Given the description of an element on the screen output the (x, y) to click on. 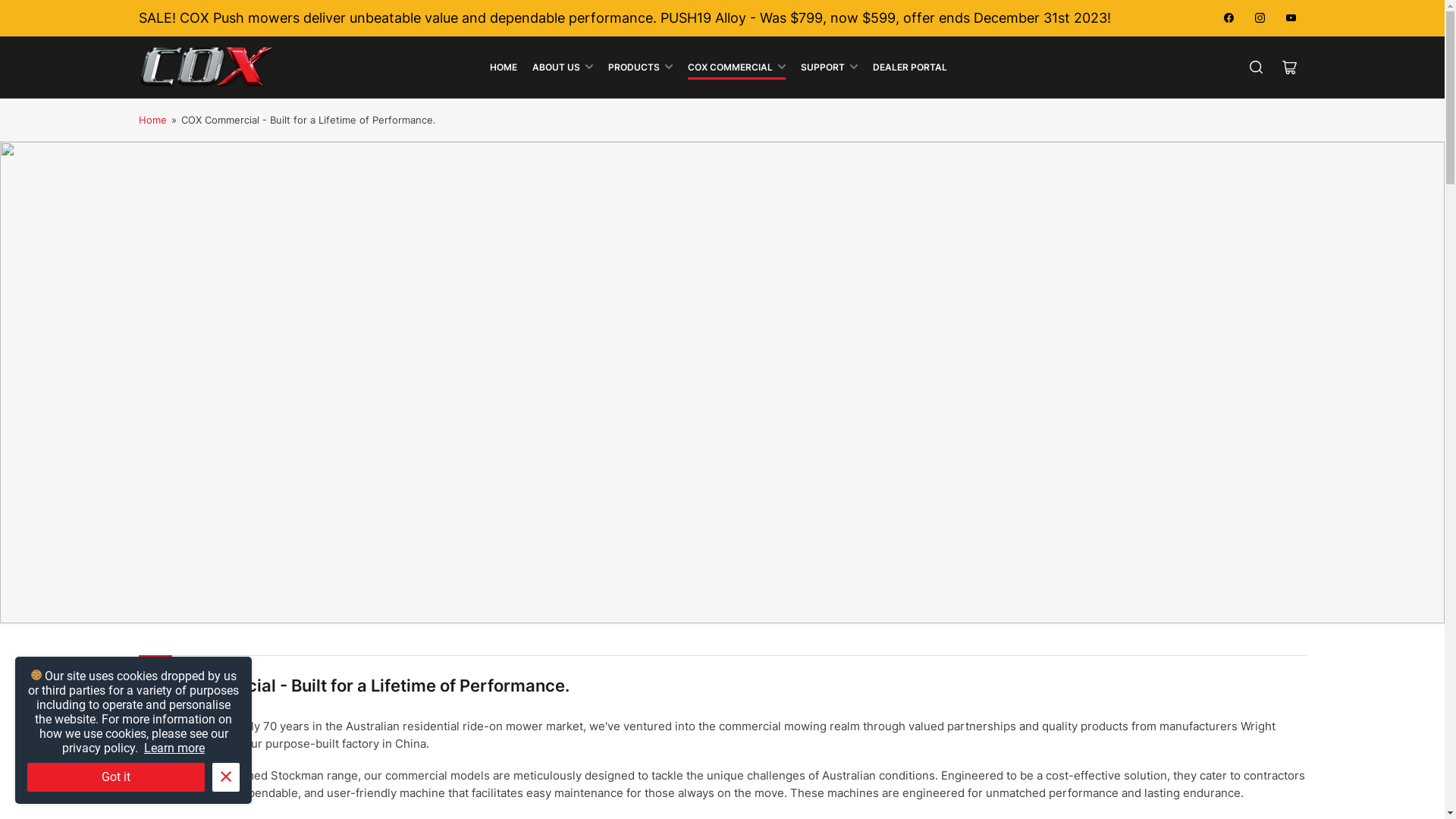
Got it Element type: text (115, 776)
Learn more Element type: text (174, 747)
COX COMMERCIAL Element type: text (736, 66)
DEALER PORTAL Element type: text (909, 66)
SUPPORT Element type: text (828, 66)
YouTube Element type: text (1290, 17)
Home Element type: text (152, 119)
HOME Element type: text (503, 66)
Open mini cart Element type: text (1288, 66)
ABOUT US Element type: text (562, 66)
PRODUCTS Element type: text (640, 66)
Facebook Element type: text (1228, 17)
Instagram Element type: text (1259, 17)
